Given the description of an element on the screen output the (x, y) to click on. 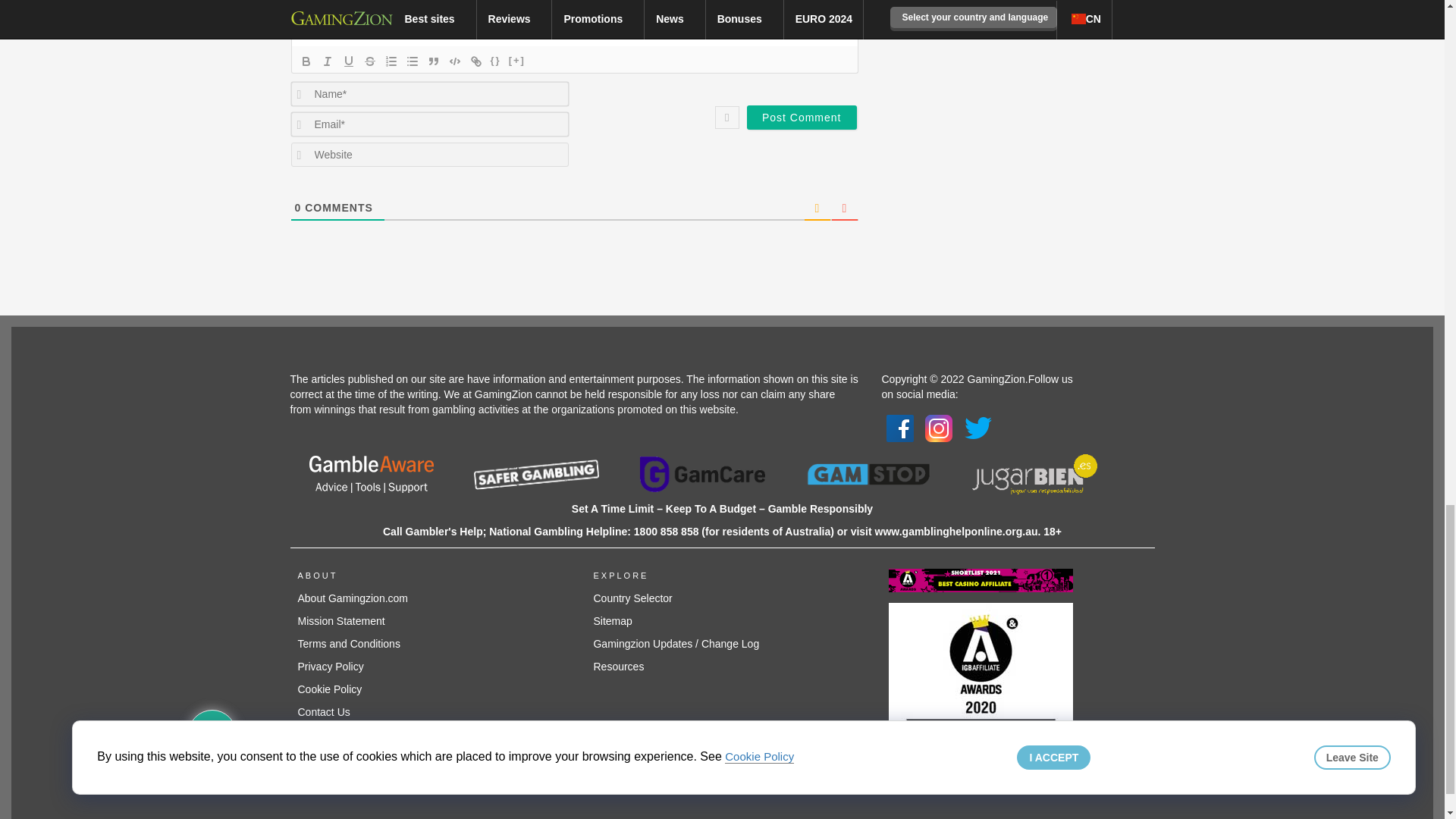
Post Comment (801, 117)
